Given the description of an element on the screen output the (x, y) to click on. 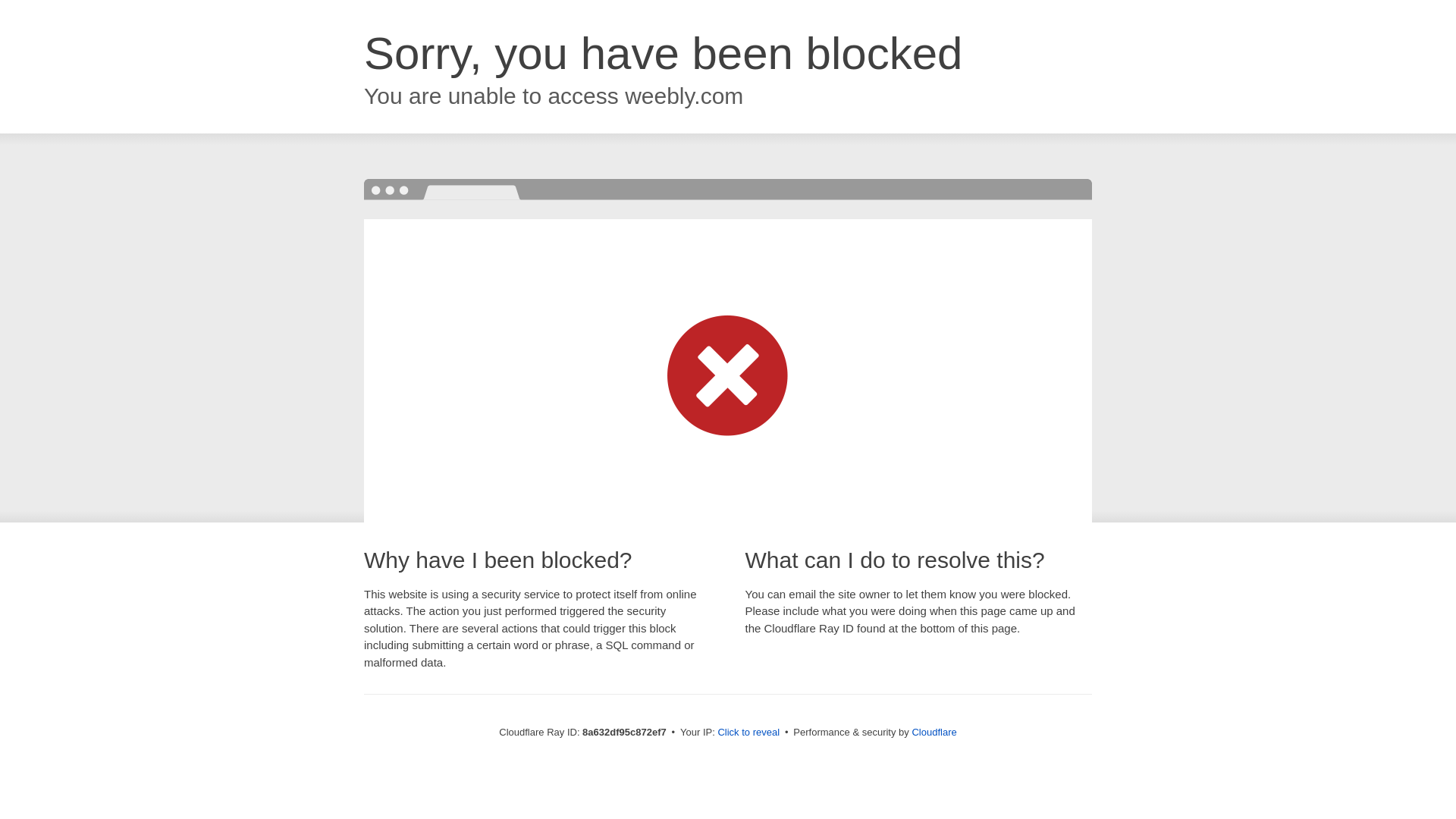
Cloudflare (933, 731)
Click to reveal (747, 732)
